Given the description of an element on the screen output the (x, y) to click on. 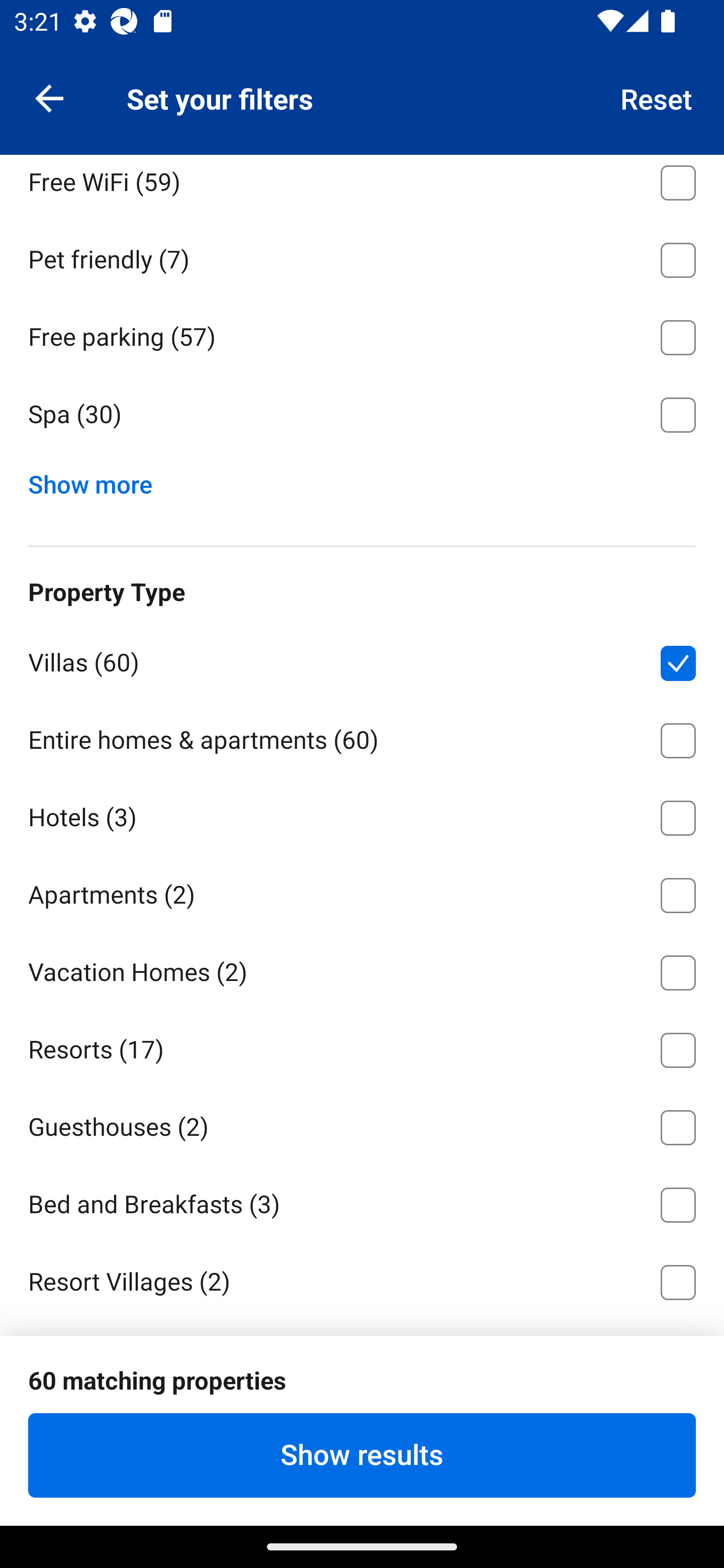
Navigate up (49, 97)
Reset (656, 97)
Swimming pool ⁦(58) (361, 101)
Free WiFi ⁦(59) (361, 186)
Pet friendly ⁦(7) (361, 255)
Free parking ⁦(57) (361, 333)
Spa ⁦(30) (361, 415)
Show more (97, 480)
Villas ⁦(60) (361, 659)
Entire homes & apartments ⁦(60) (361, 737)
Hotels ⁦(3) (361, 814)
Apartments ⁦(2) (361, 891)
Vacation Homes ⁦(2) (361, 969)
Resorts ⁦(17) (361, 1046)
Guesthouses ⁦(2) (361, 1124)
Bed and Breakfasts ⁦(3) (361, 1201)
Resort Villages ⁦(2) (361, 1278)
Show results (361, 1454)
